Given the description of an element on the screen output the (x, y) to click on. 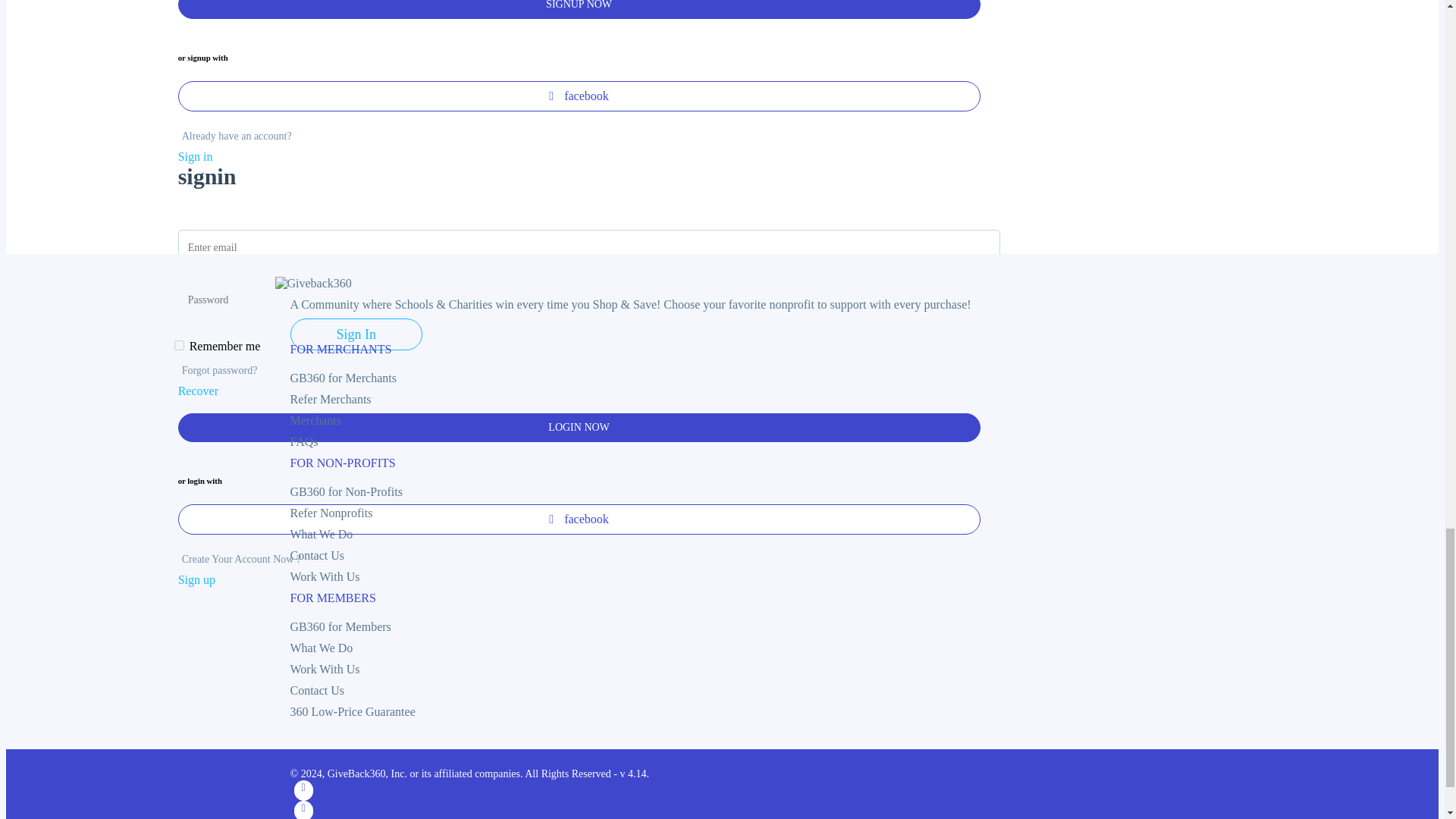
LOGIN NOW (578, 427)
Recover (197, 390)
Sign in (194, 155)
SIGNUP NOW (578, 9)
Facebook (303, 790)
Twitter (303, 809)
rememberme (179, 345)
Giveback360 (312, 283)
facebook (578, 96)
